Given the description of an element on the screen output the (x, y) to click on. 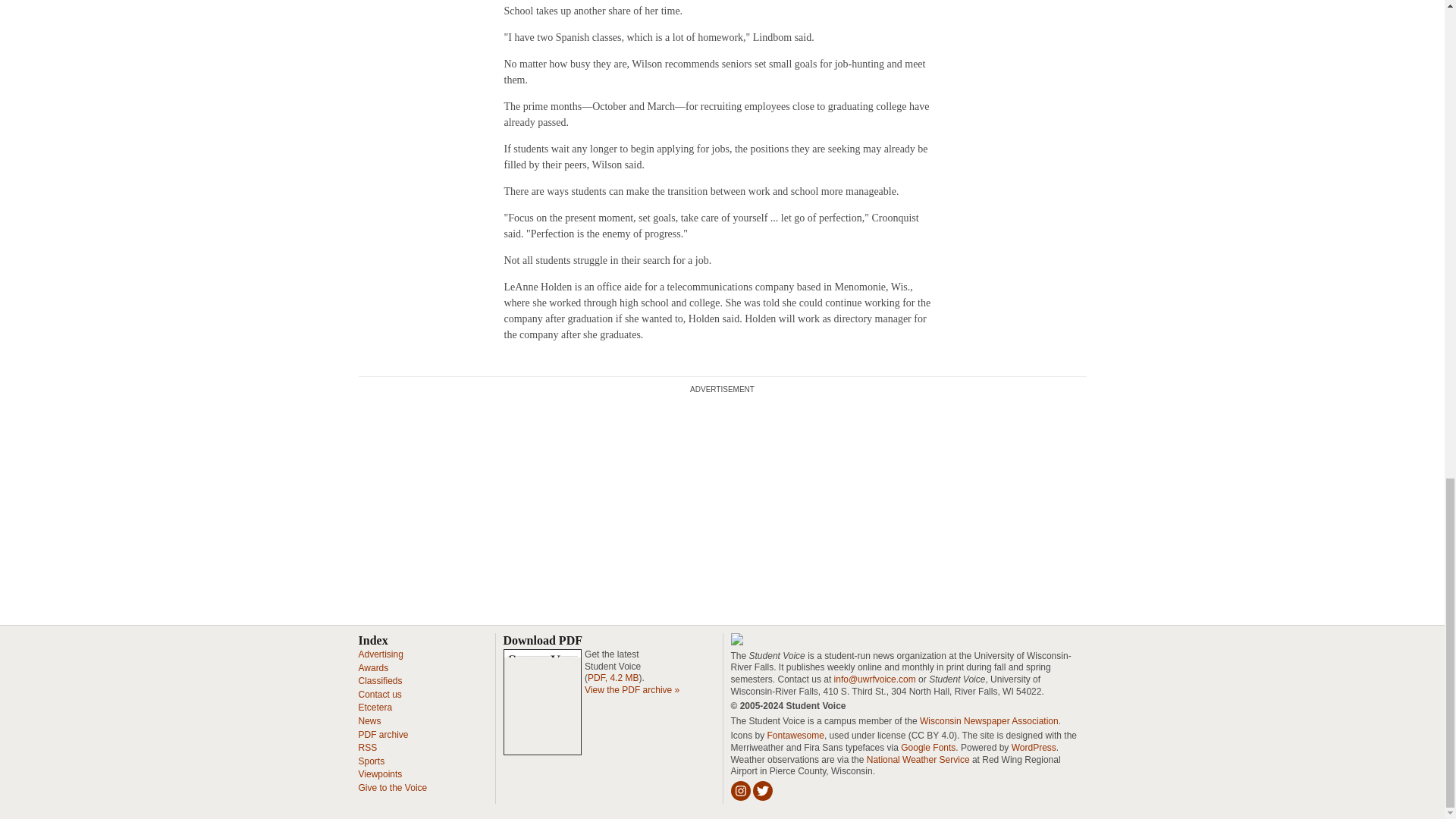
Advertising (380, 654)
Give to the Voice (392, 787)
Contact us (379, 694)
Sports (371, 760)
Contact us (379, 694)
Fontawesome (795, 735)
News (369, 720)
Awards (373, 667)
Classifieds (379, 680)
Wisconsin Newspaper Association (989, 720)
Etcetera (374, 706)
PDF, 4.2 MB (613, 677)
PDF archive (382, 734)
PDF archive (382, 734)
Viewpoints (379, 774)
